Given the description of an element on the screen output the (x, y) to click on. 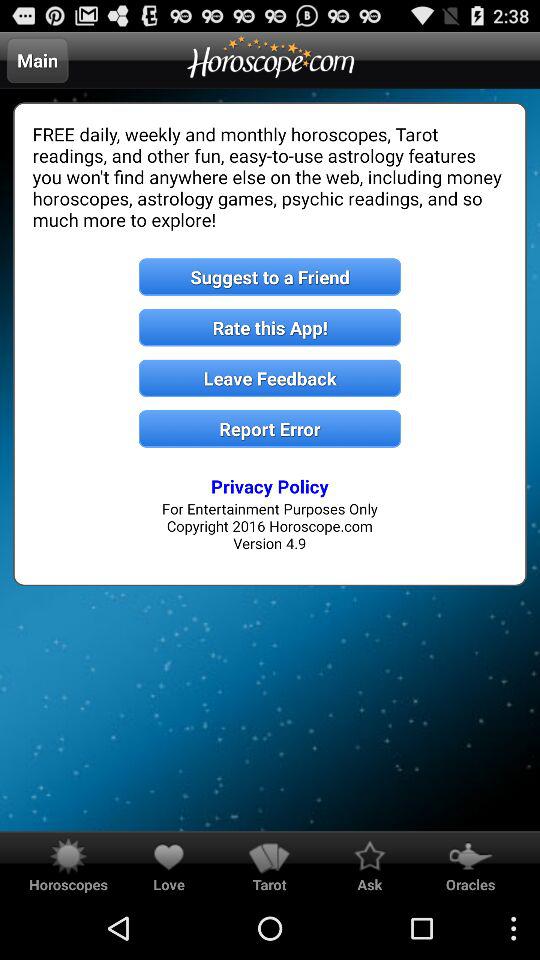
turn off main item (37, 60)
